Given the description of an element on the screen output the (x, y) to click on. 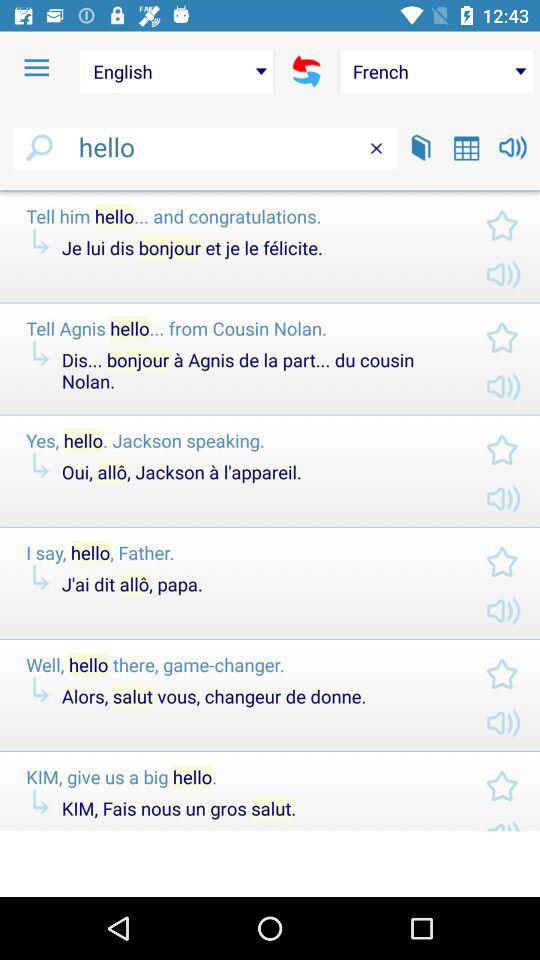
turn on the icon next to english (306, 71)
